Given the description of an element on the screen output the (x, y) to click on. 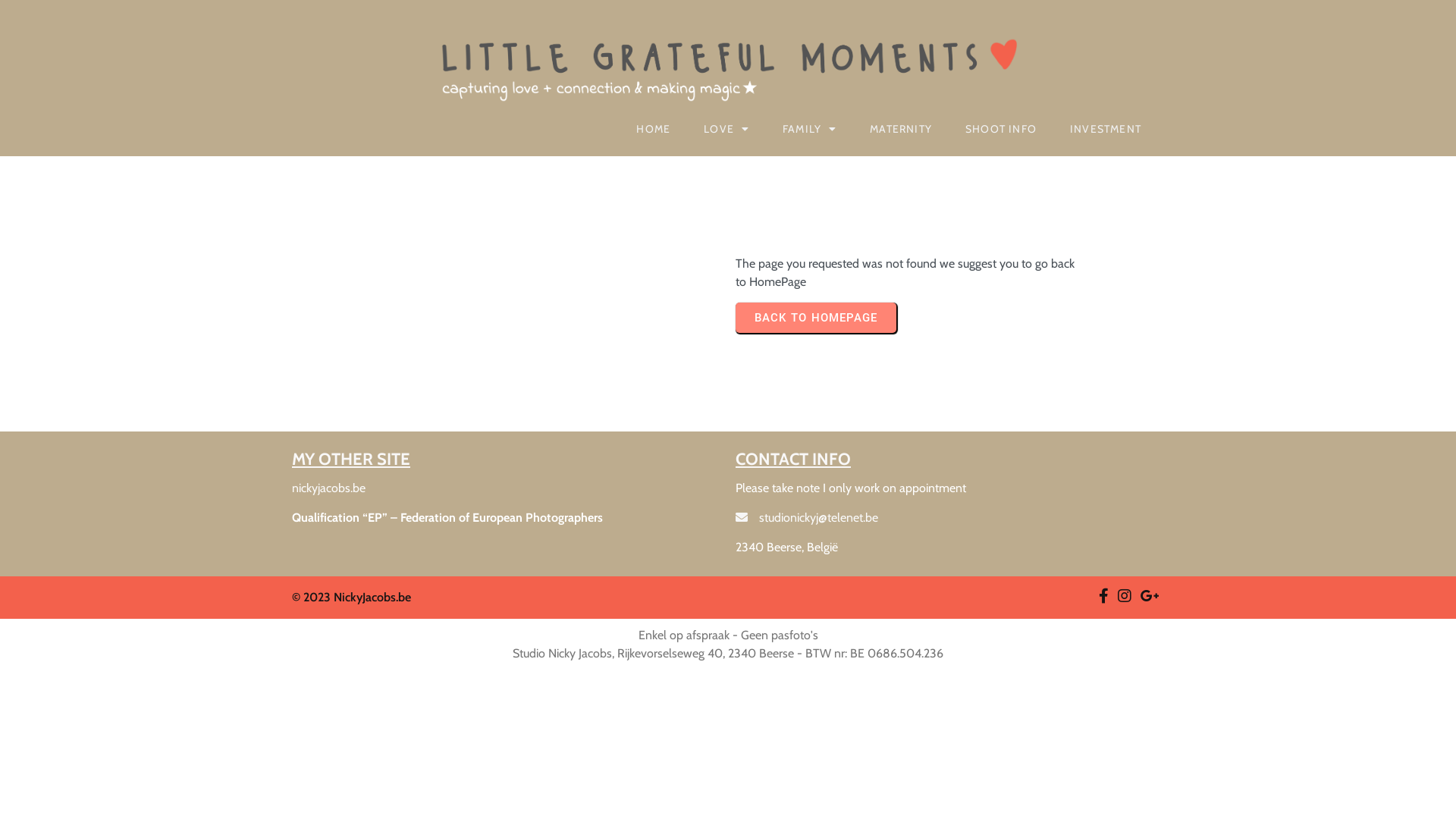
BACK TO HOMEPAGE Element type: text (815, 317)
MATERNITY Element type: text (900, 129)
SHOOT INFO Element type: text (1000, 129)
FAMILY Element type: text (809, 129)
HOME Element type: text (653, 129)
INVESTMENT Element type: text (1105, 129)
nickyjacobs.be Element type: text (328, 487)
LOVE Element type: text (726, 129)
